Given the description of an element on the screen output the (x, y) to click on. 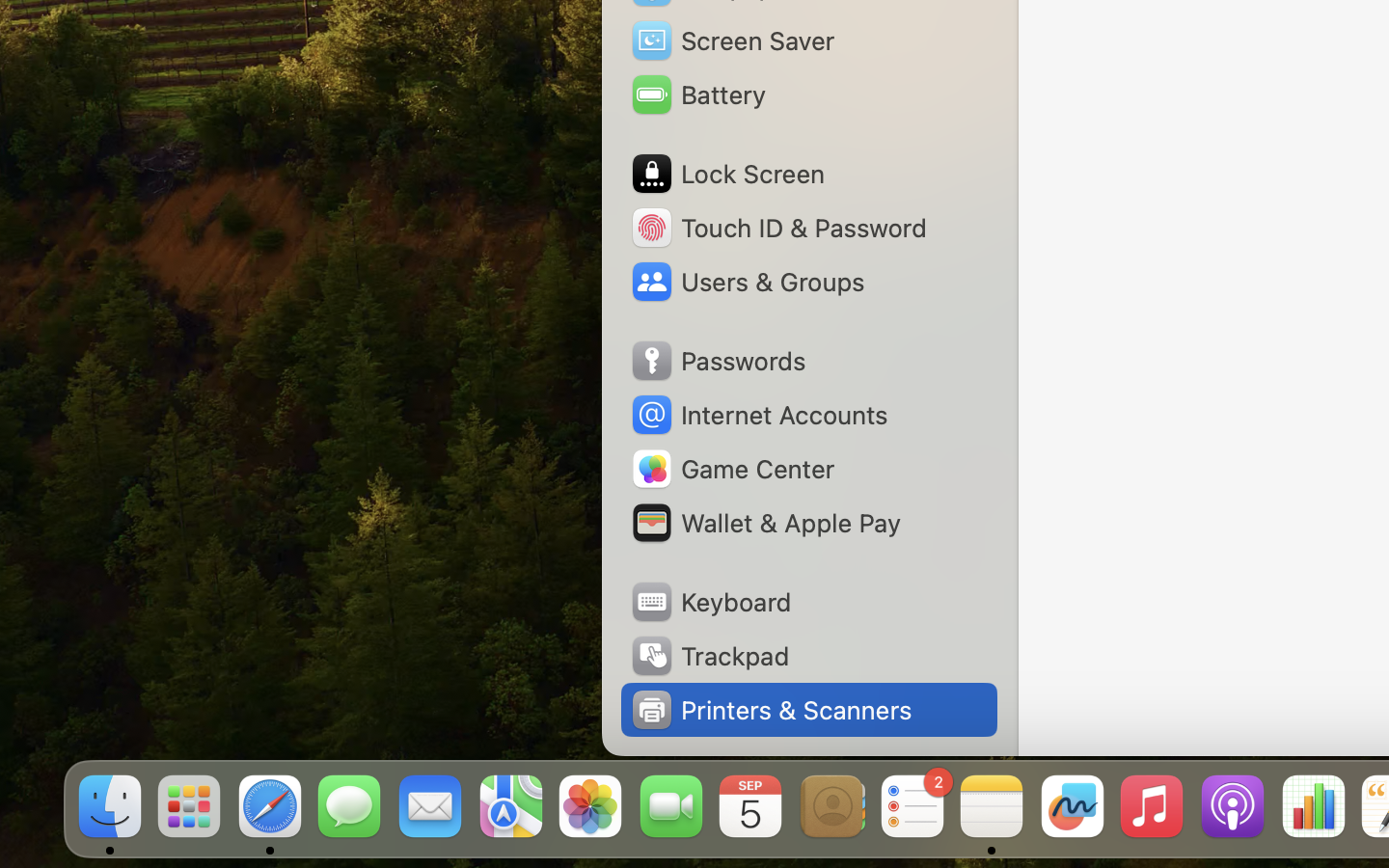
Trackpad Element type: AXStaticText (708, 655)
Keyboard Element type: AXStaticText (709, 601)
